Given the description of an element on the screen output the (x, y) to click on. 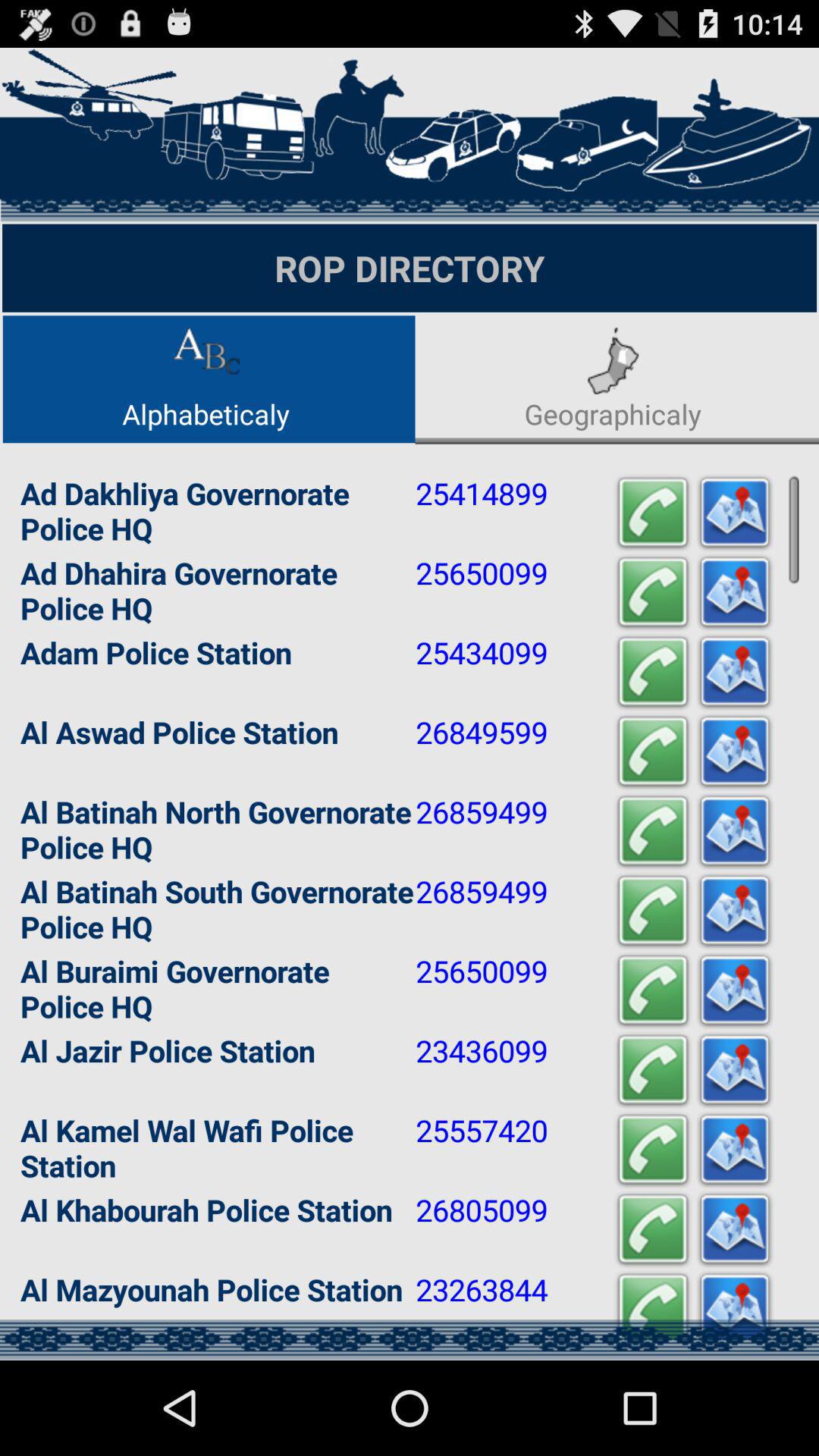
call this number (652, 910)
